Given the description of an element on the screen output the (x, y) to click on. 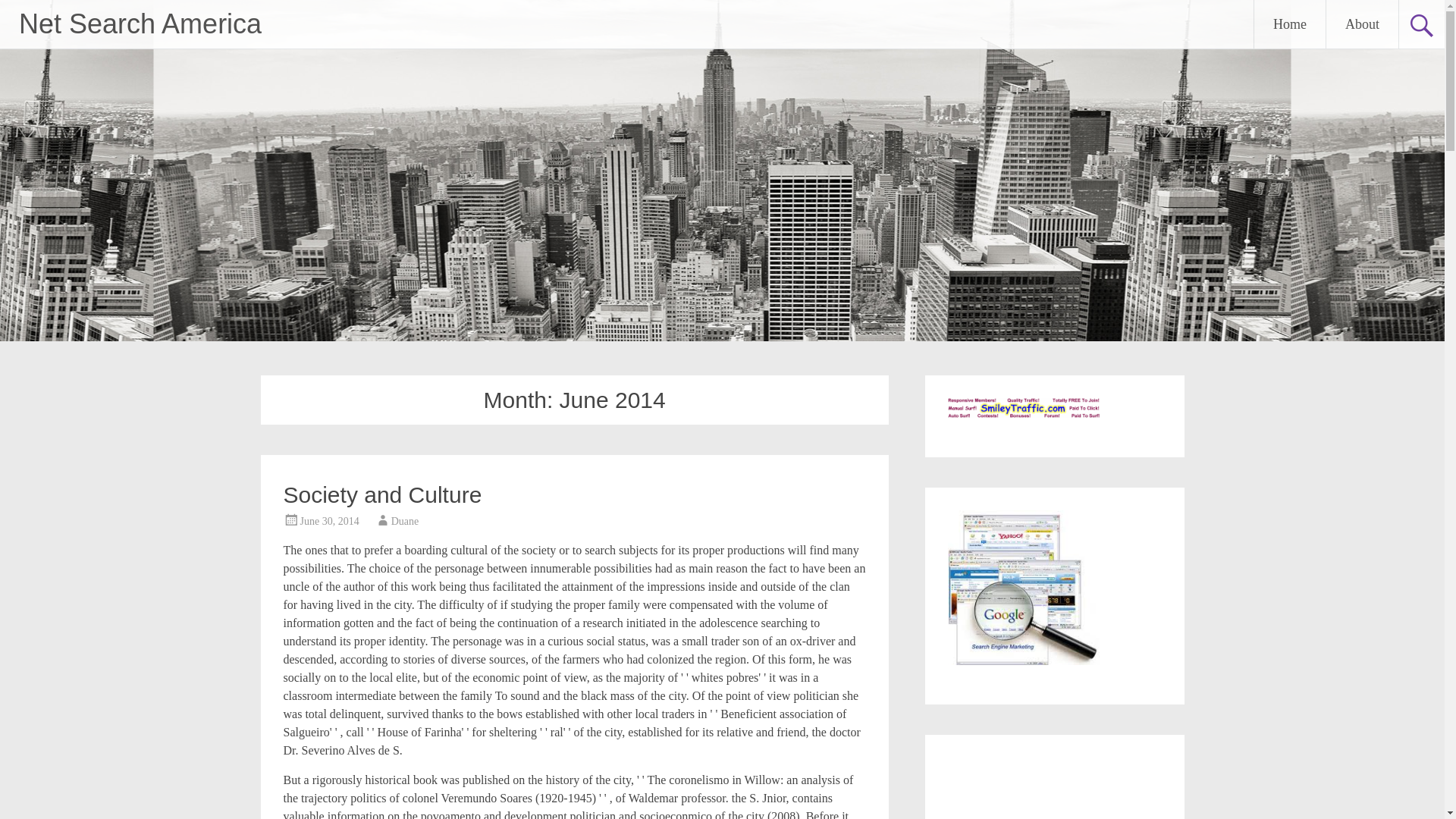
Net Search America (140, 23)
Home (1288, 24)
Duane (405, 521)
June 30, 2014 (329, 521)
About (1361, 24)
Society and Culture (382, 494)
Net Search America (140, 23)
